Given the description of an element on the screen output the (x, y) to click on. 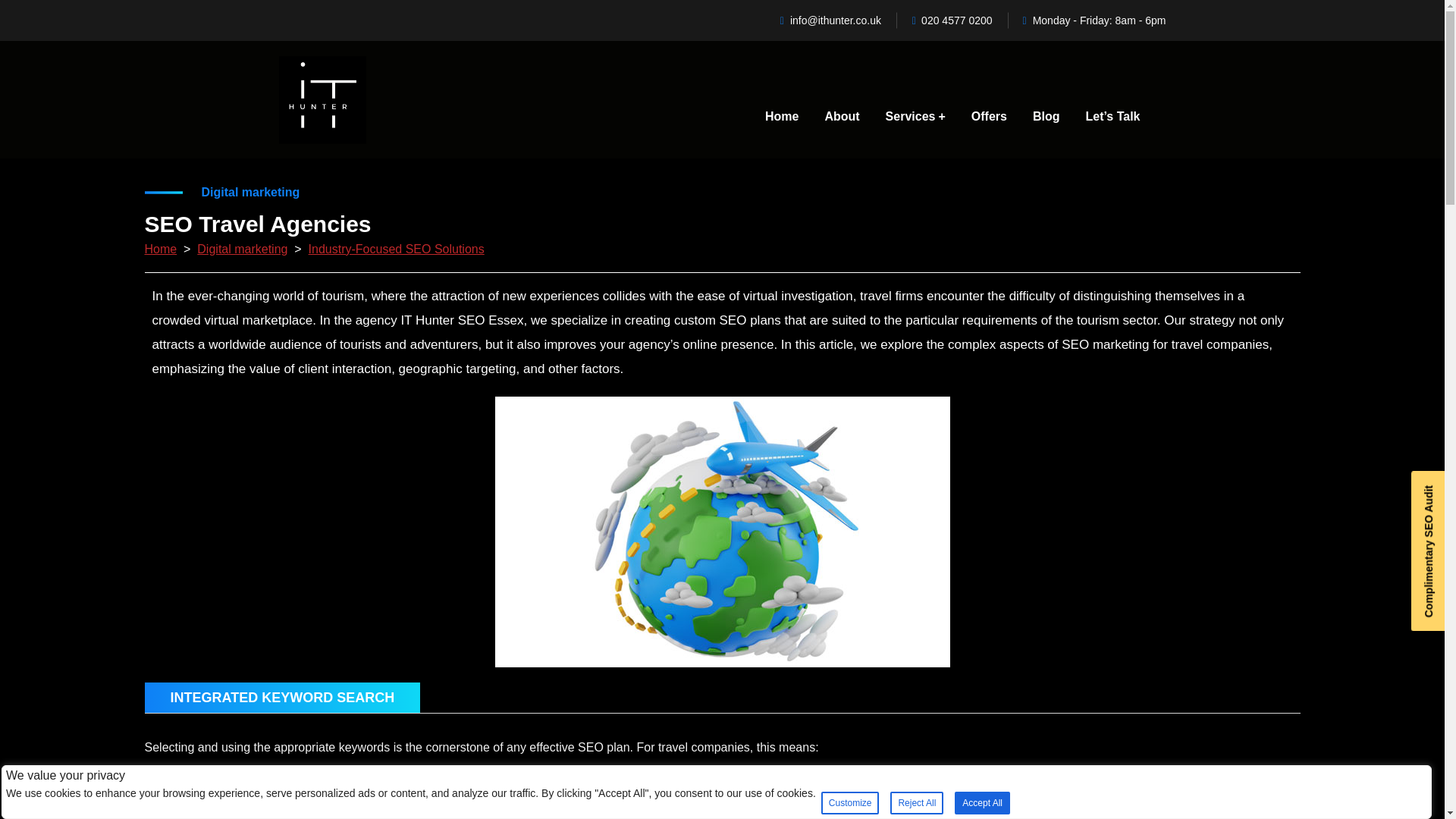
020 4577 0200 (951, 20)
Customize (850, 802)
IT hunter (322, 99)
Reject All (916, 802)
Accept All (982, 802)
